Given the description of an element on the screen output the (x, y) to click on. 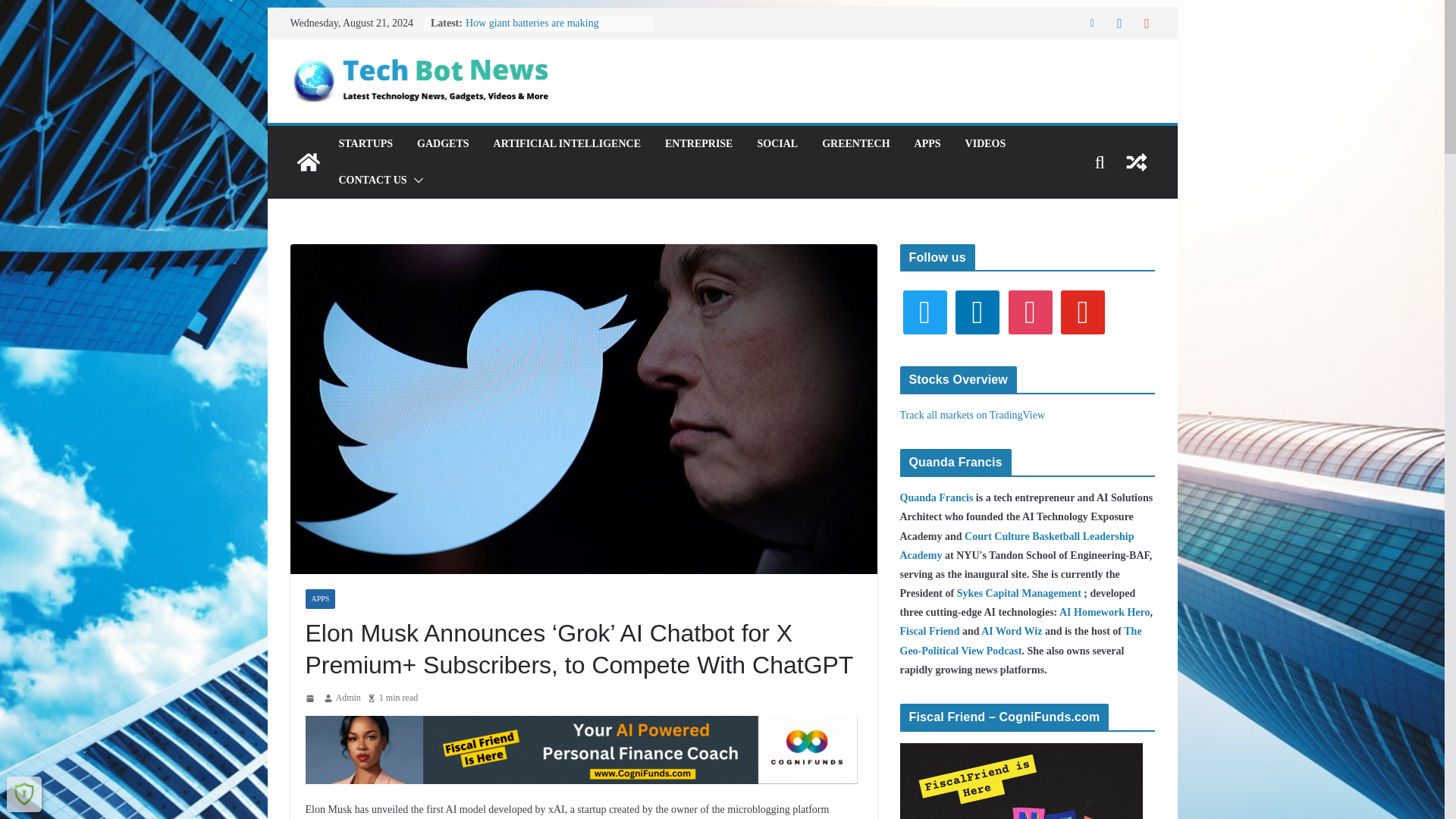
ENTREPRISE (698, 143)
APPS (319, 598)
Technology Bot News (307, 162)
GREENTECH (855, 143)
SOCIAL (777, 143)
STARTUPS (365, 143)
CONTACT US (371, 179)
Admin (346, 698)
View a random post (1136, 162)
VIDEOS (985, 143)
